Given the description of an element on the screen output the (x, y) to click on. 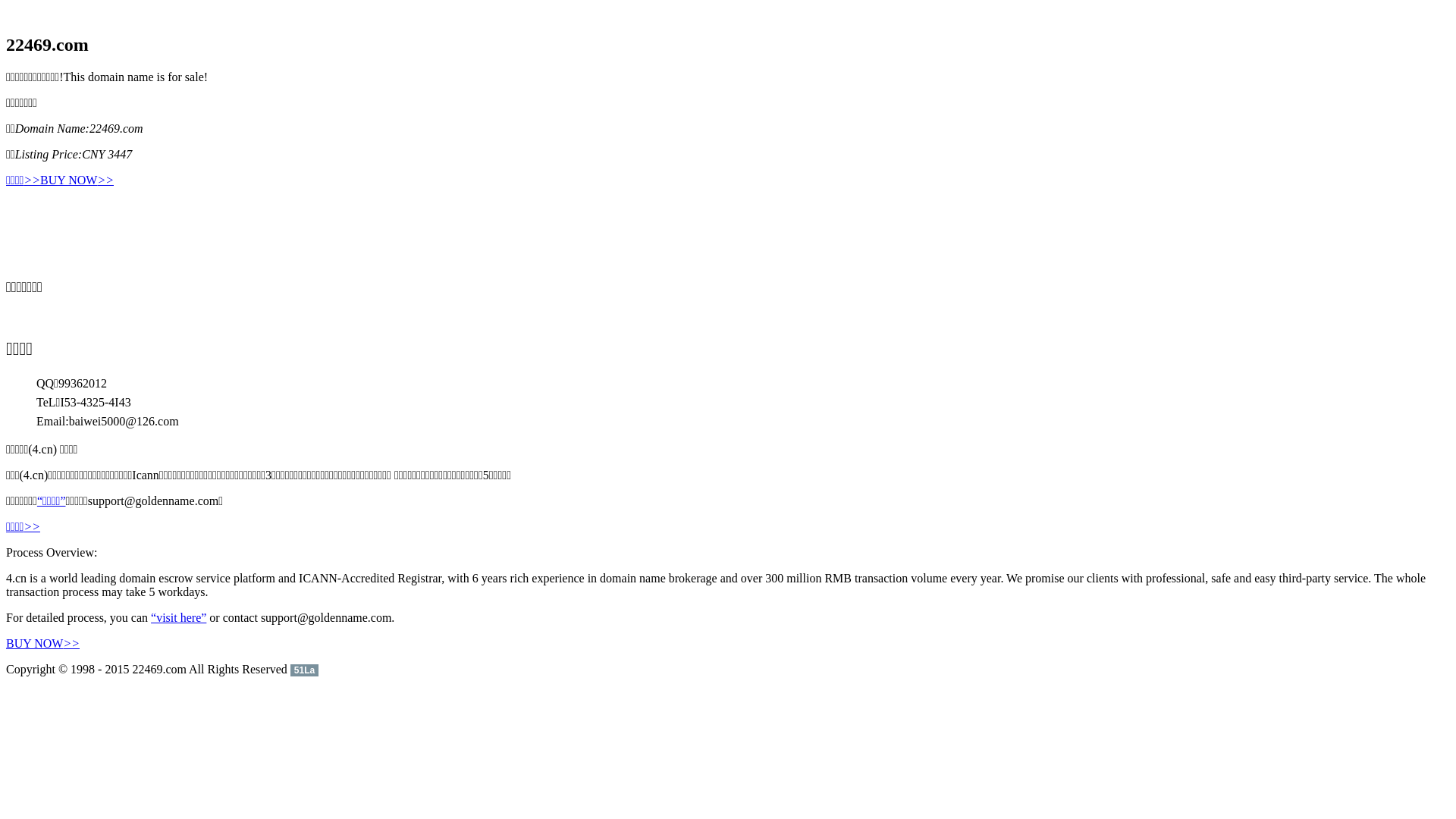
BUY NOW>> Element type: text (76, 180)
51La Element type: text (304, 668)
BUY NOW>> Element type: text (42, 643)
